Given the description of an element on the screen output the (x, y) to click on. 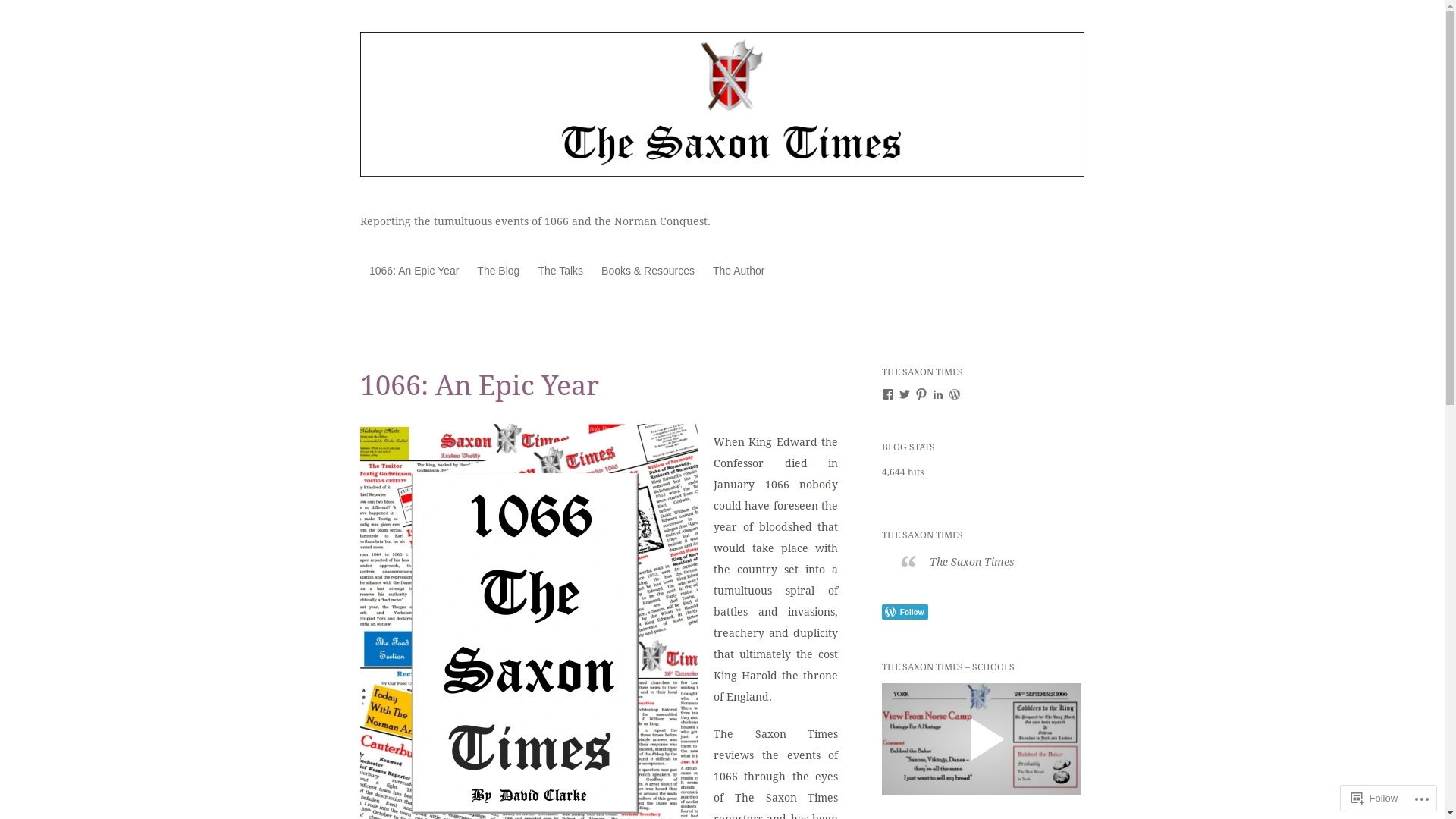
The Saxon Times Element type: text (971, 561)
Follow Element type: text (1374, 797)
The Talks Element type: text (560, 269)
VideoPress Video Player Element type: hover (980, 739)
Follow Button Element type: hover (980, 611)
The Blog Element type: text (497, 269)
Books & Resources Element type: text (647, 269)
THE SAXON TIMES Element type: text (921, 535)
1066: An Epic Year Element type: text (413, 269)
The Author Element type: text (738, 269)
